Given the description of an element on the screen output the (x, y) to click on. 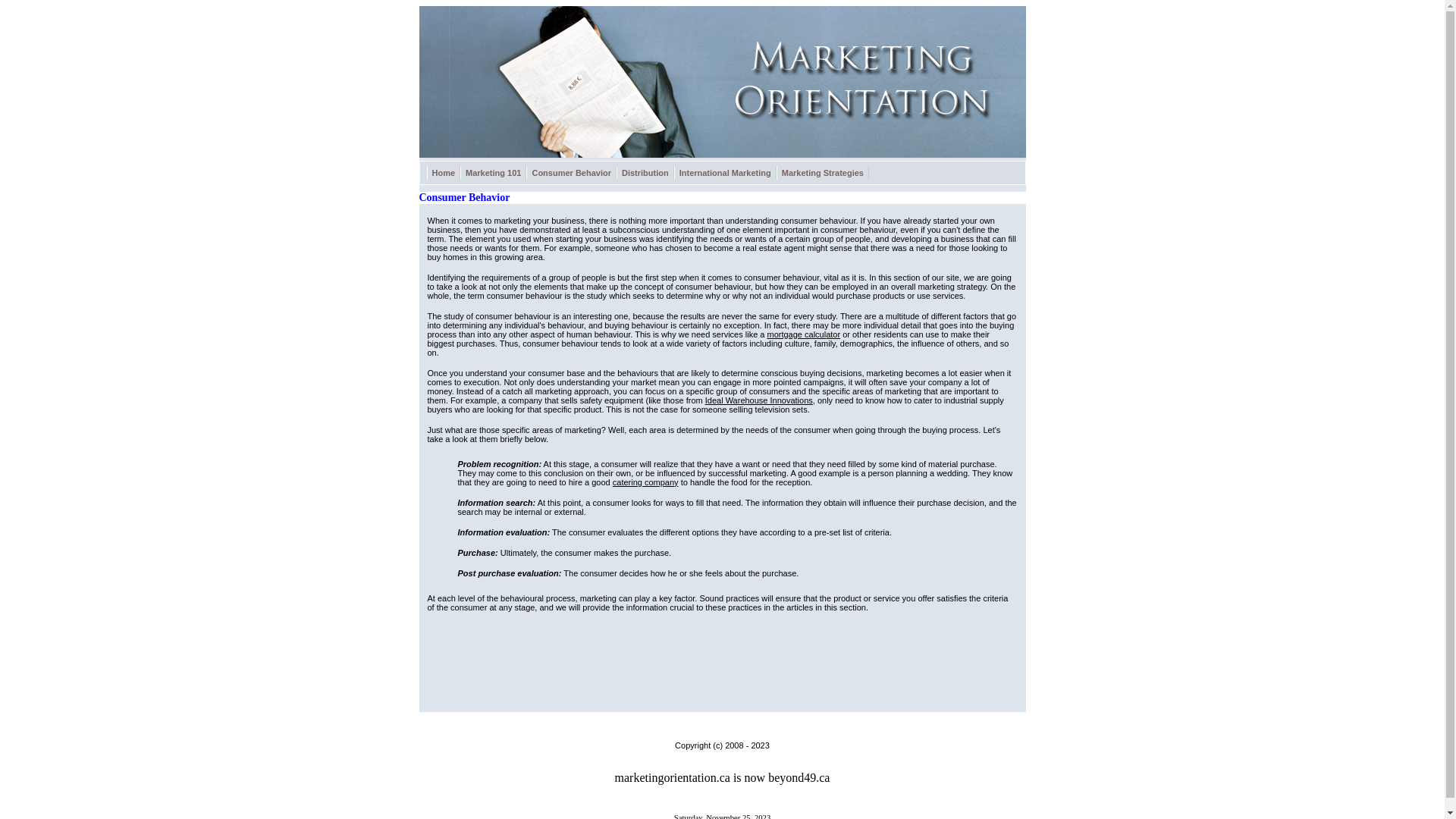
International Marketing Element type: text (725, 172)
mortgage calculator Element type: text (803, 333)
catering company Element type: text (645, 481)
Marketing Strategies Element type: text (822, 172)
Home Element type: text (443, 172)
Consumer Behavior Element type: text (571, 172)
Distribution Element type: text (645, 172)
Ideal Warehouse Innovations Element type: text (758, 399)
Marketing 101 Element type: text (493, 172)
